Given the description of an element on the screen output the (x, y) to click on. 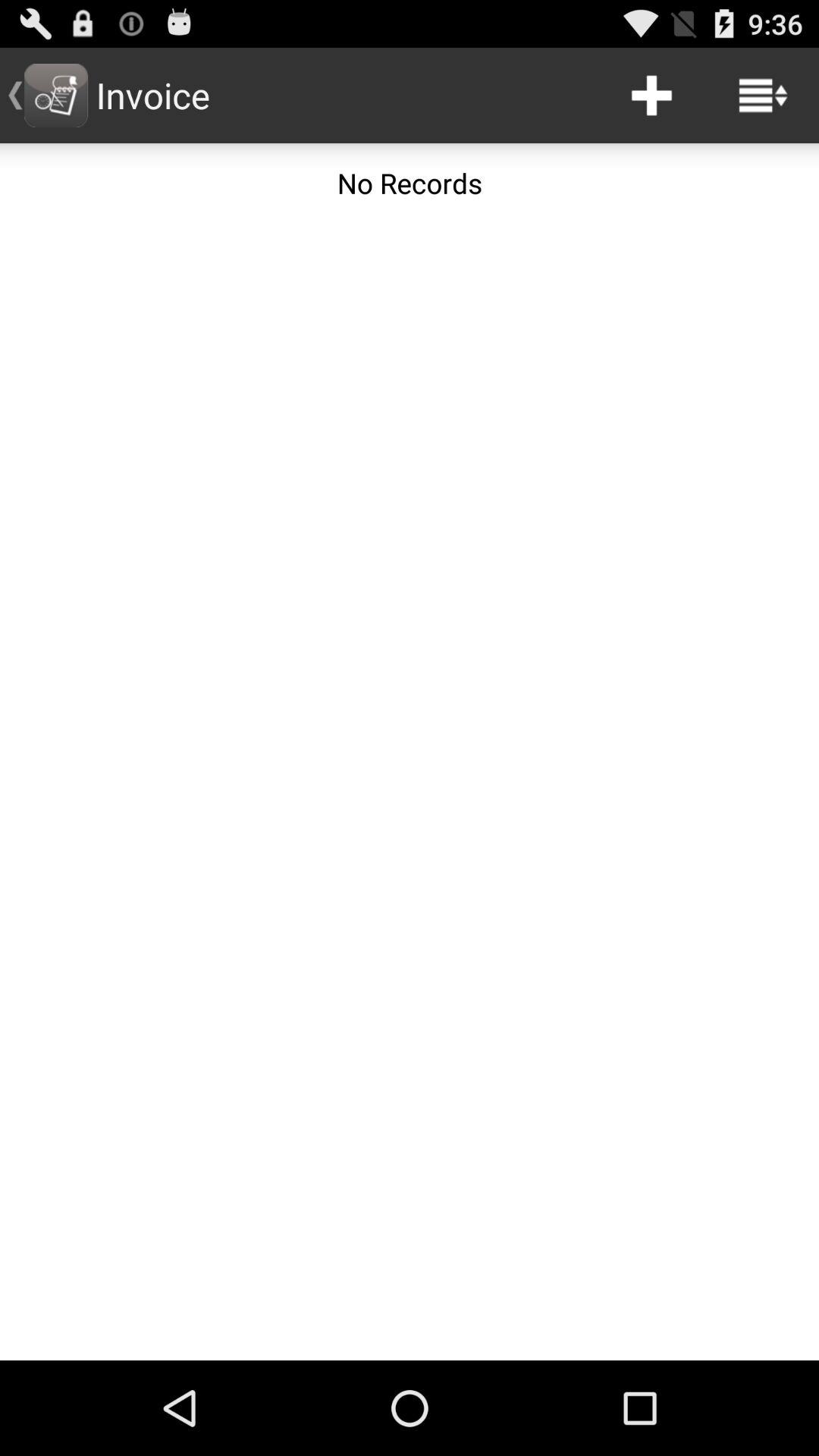
turn off the item to the right of the invoice app (651, 95)
